Given the description of an element on the screen output the (x, y) to click on. 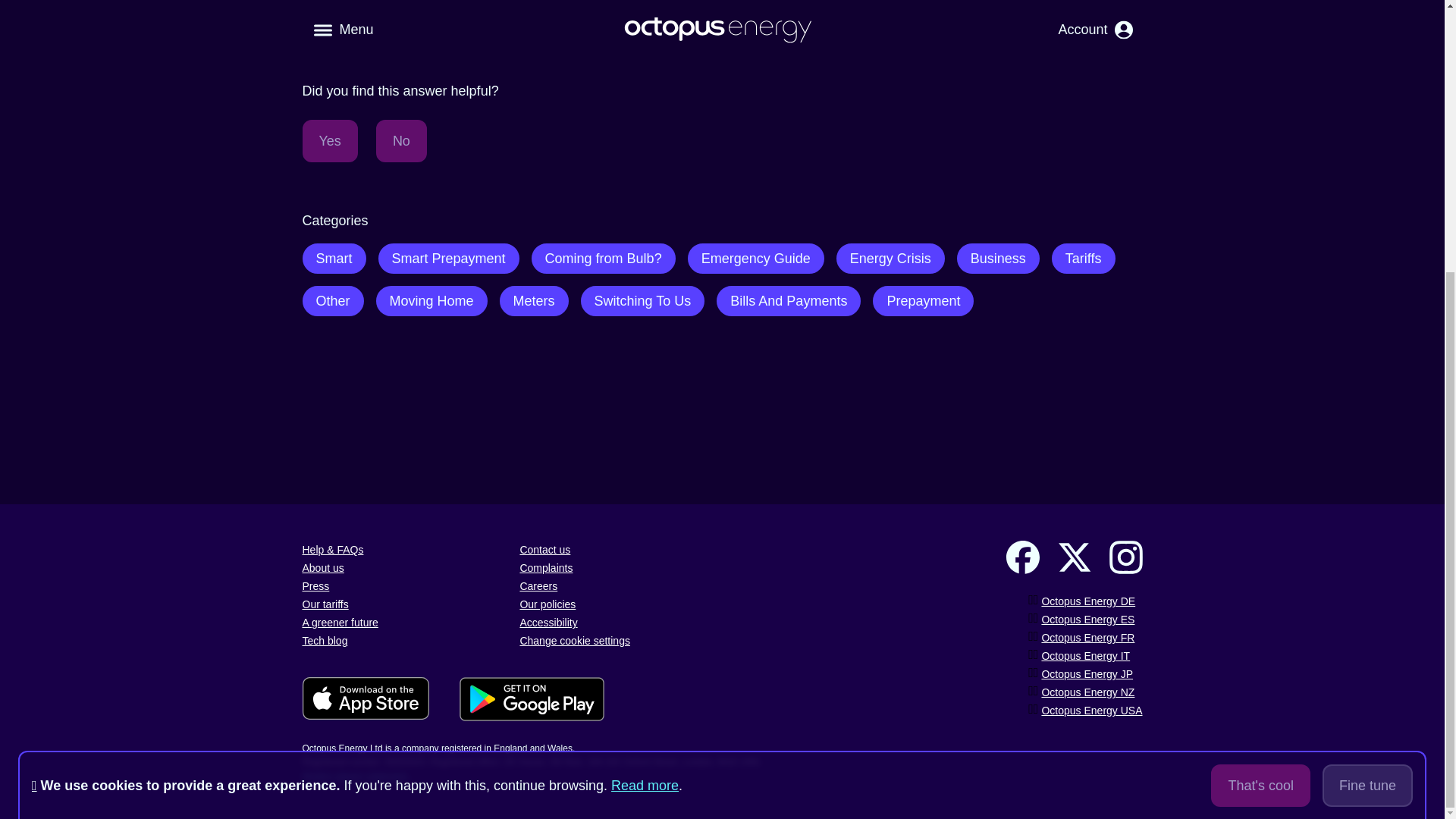
Business (997, 257)
Meters (534, 300)
No (400, 140)
Tariffs (1083, 257)
Energy Crisis (889, 257)
Moving Home (431, 300)
Find out more about our service plans. (417, 46)
Prepayment (923, 300)
Smart (333, 257)
Our tariffs (324, 604)
Careers (538, 585)
Coming from Bulb? (603, 257)
Press (315, 585)
Bills And Payments (788, 300)
Yes (328, 140)
